Given the description of an element on the screen output the (x, y) to click on. 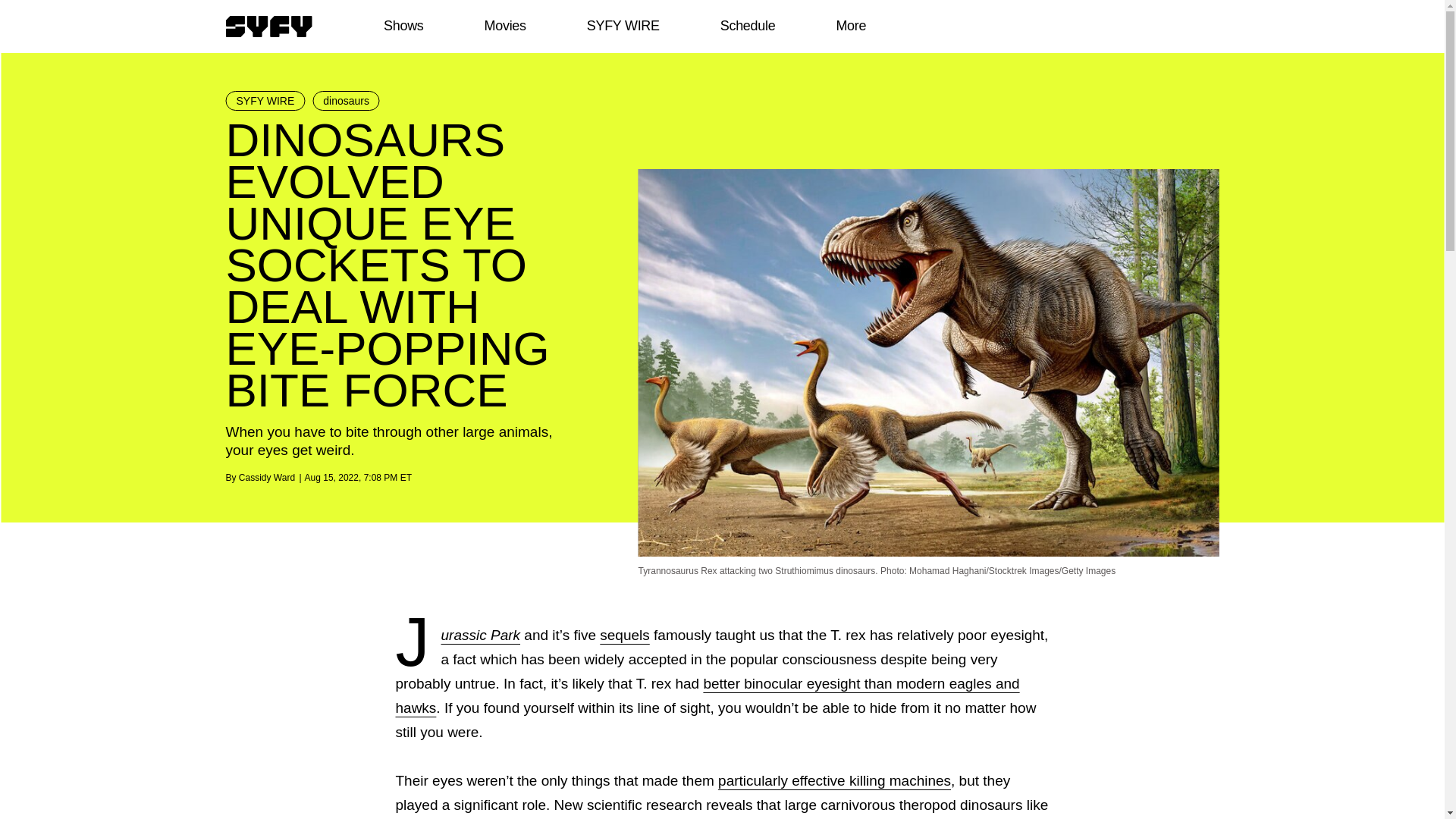
Movies (504, 26)
sequels (624, 634)
Jurassic Park (481, 634)
Cassidy Ward (266, 477)
particularly effective killing machines (833, 780)
Schedule (746, 26)
dinosaurs (346, 100)
Shows (403, 26)
SYFY WIRE (622, 26)
better binocular eyesight than modern eagles and hawks (708, 695)
SYFY WIRE (265, 100)
More (850, 26)
